Given the description of an element on the screen output the (x, y) to click on. 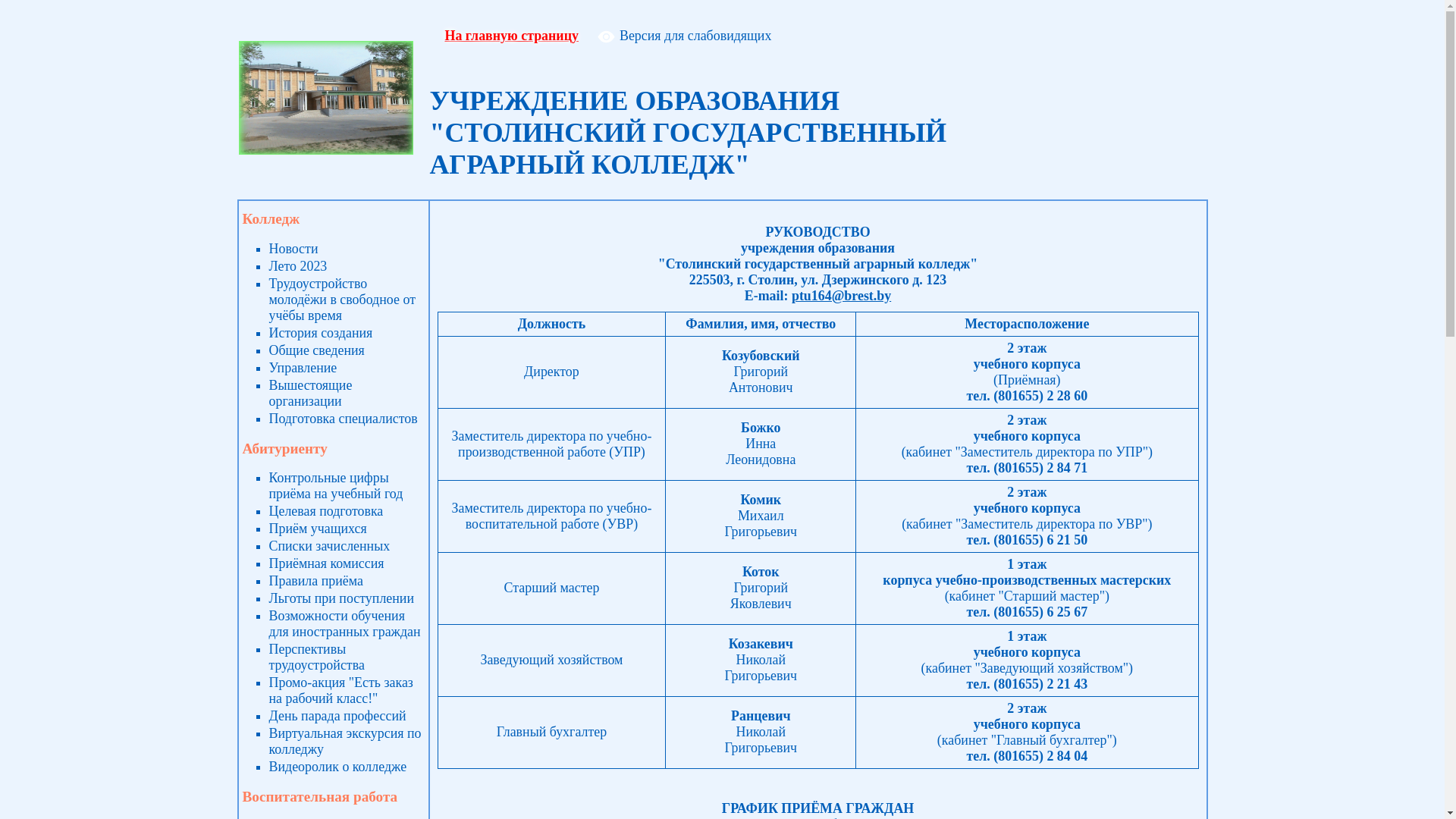
ptu164@brest.by Element type: text (841, 295)
